Given the description of an element on the screen output the (x, y) to click on. 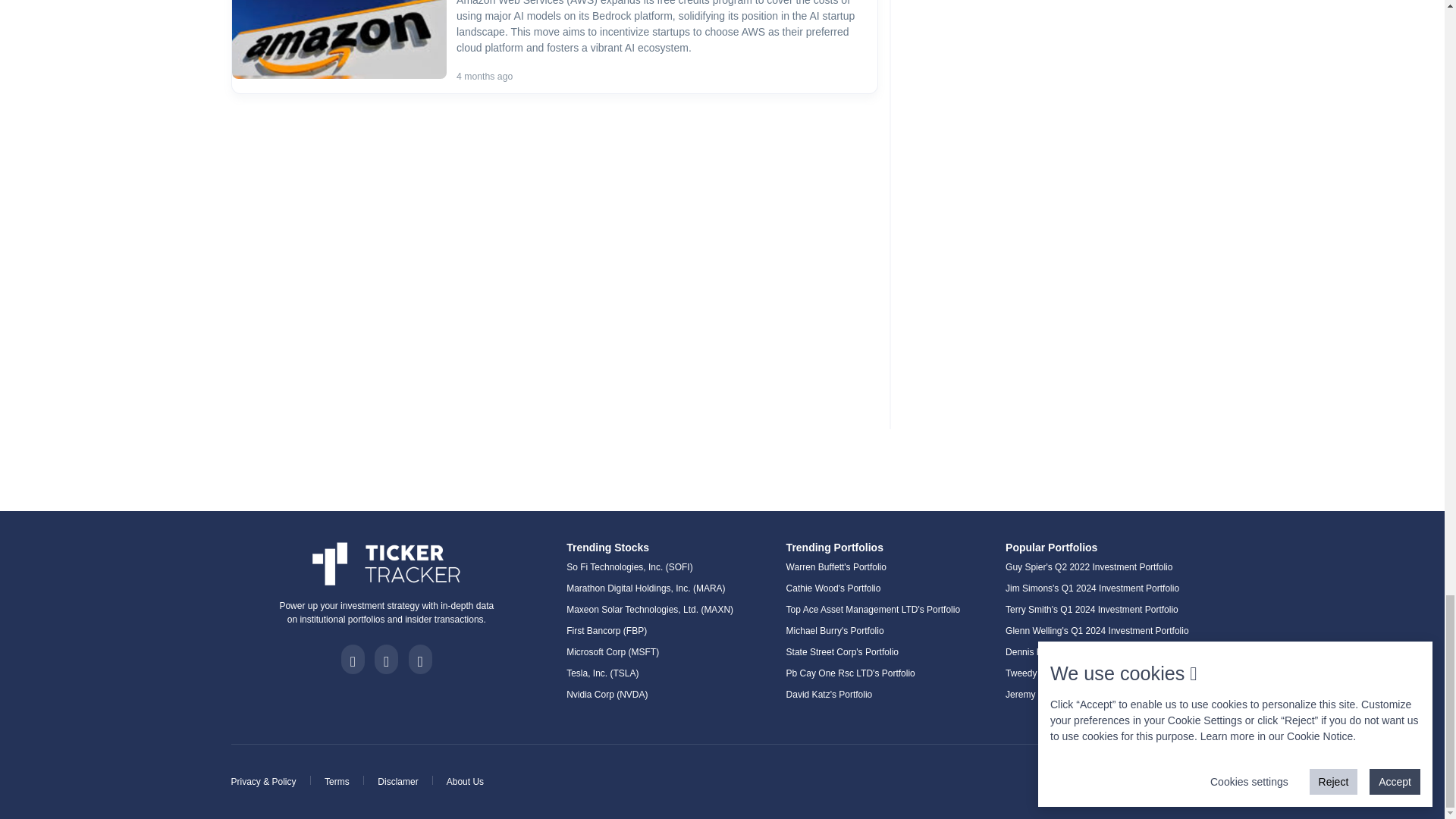
TickerTracker.io (387, 564)
